Given the description of an element on the screen output the (x, y) to click on. 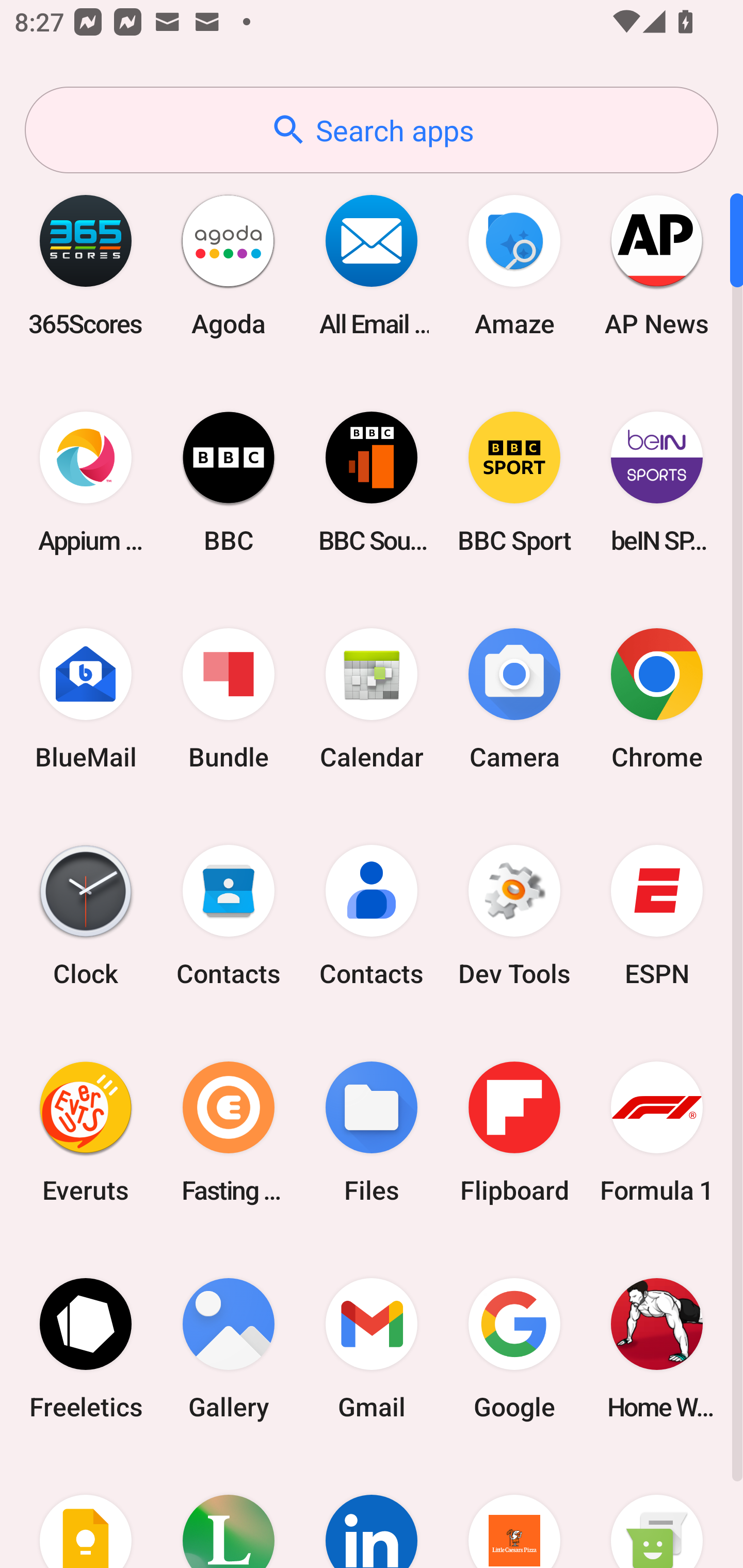
  Search apps (371, 130)
365Scores (85, 264)
Agoda (228, 264)
All Email Connect (371, 264)
Amaze (514, 264)
AP News (656, 264)
Appium Settings (85, 482)
BBC (228, 482)
BBC Sounds (371, 482)
BBC Sport (514, 482)
beIN SPORTS (656, 482)
BlueMail (85, 699)
Bundle (228, 699)
Calendar (371, 699)
Camera (514, 699)
Chrome (656, 699)
Clock (85, 915)
Contacts (228, 915)
Contacts (371, 915)
Dev Tools (514, 915)
ESPN (656, 915)
Everuts (85, 1131)
Fasting Coach (228, 1131)
Files (371, 1131)
Flipboard (514, 1131)
Formula 1 (656, 1131)
Freeletics (85, 1348)
Gallery (228, 1348)
Gmail (371, 1348)
Google (514, 1348)
Home Workout (656, 1348)
Keep Notes (85, 1512)
Lifesum (228, 1512)
LinkedIn (371, 1512)
Little Caesars Pizza (514, 1512)
Messaging (656, 1512)
